Given the description of an element on the screen output the (x, y) to click on. 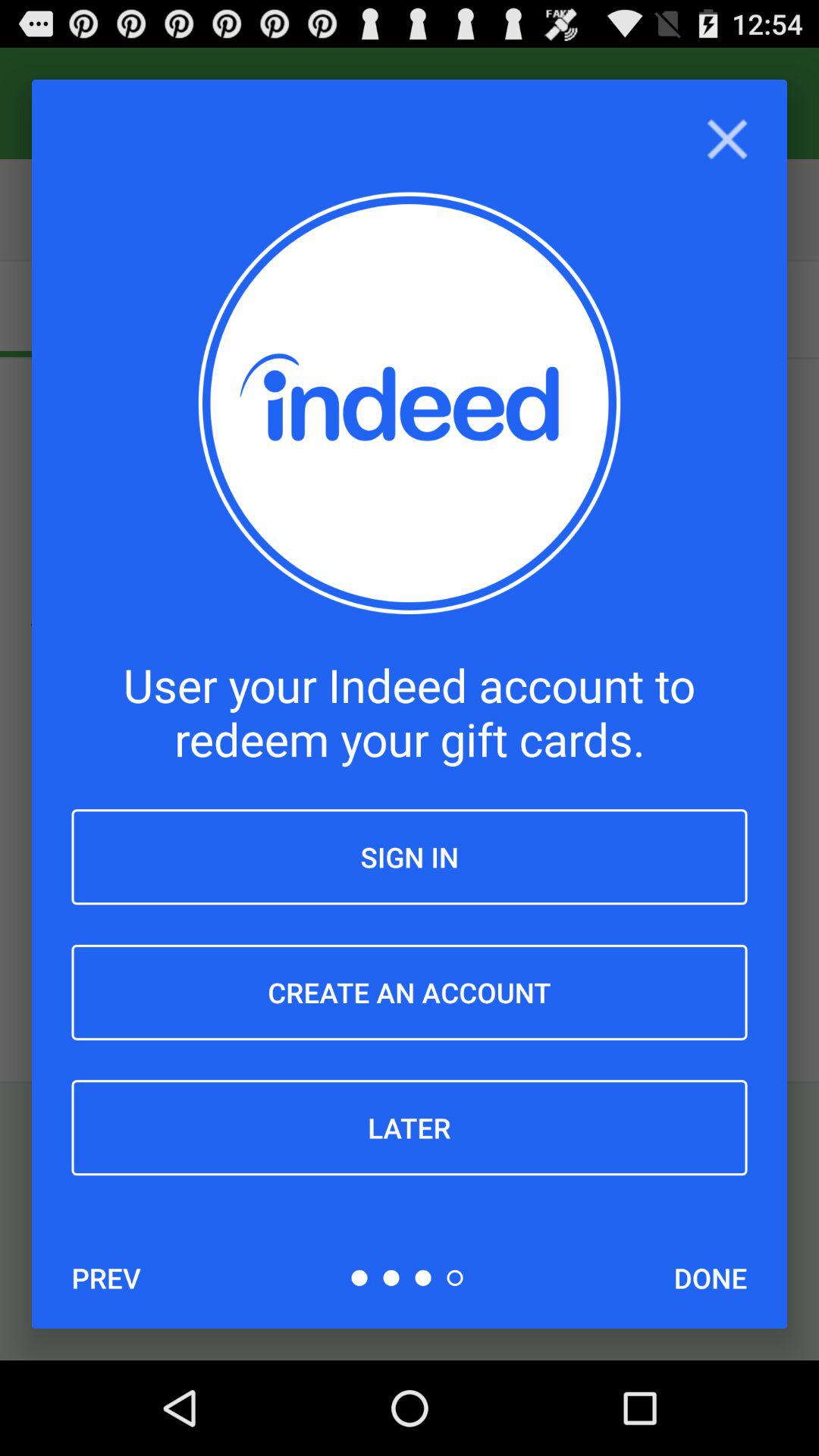
launch the icon below the user your indeed item (409, 856)
